Given the description of an element on the screen output the (x, y) to click on. 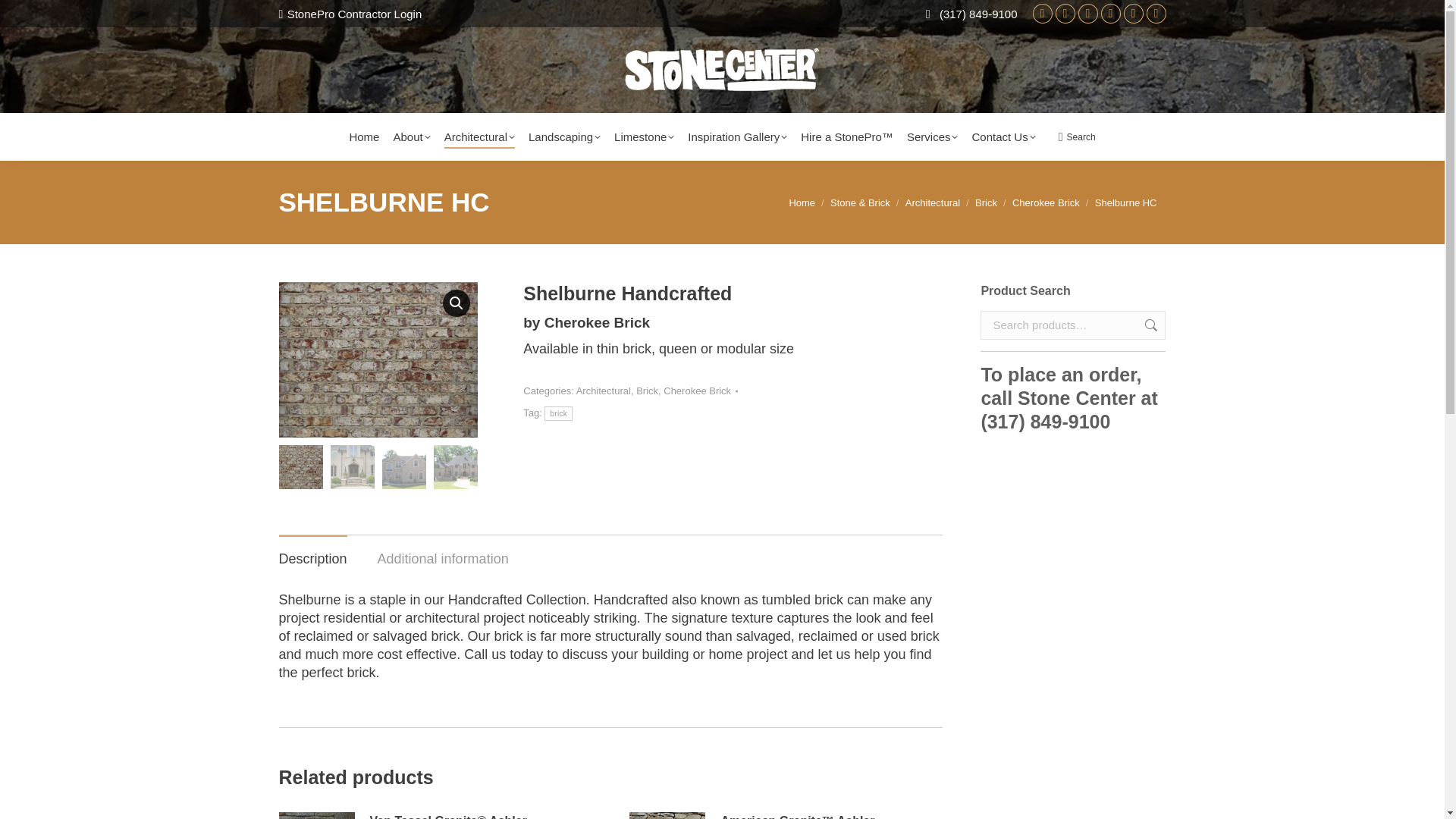
Facebook page opens in new window (1110, 13)
Linkedin page opens in new window (1065, 13)
StonePro Contractor Login (350, 13)
Flickr page opens in new window (1042, 13)
Flickr page opens in new window (1042, 13)
Architectural (479, 136)
Linkedin page opens in new window (1065, 13)
Limestone (644, 136)
Instagram page opens in new window (1156, 13)
Instagram page opens in new window (1156, 13)
Landscaping (563, 136)
Pinterest page opens in new window (1087, 13)
X page opens in new window (1133, 13)
Facebook page opens in new window (1110, 13)
Pinterest page opens in new window (1087, 13)
